Given the description of an element on the screen output the (x, y) to click on. 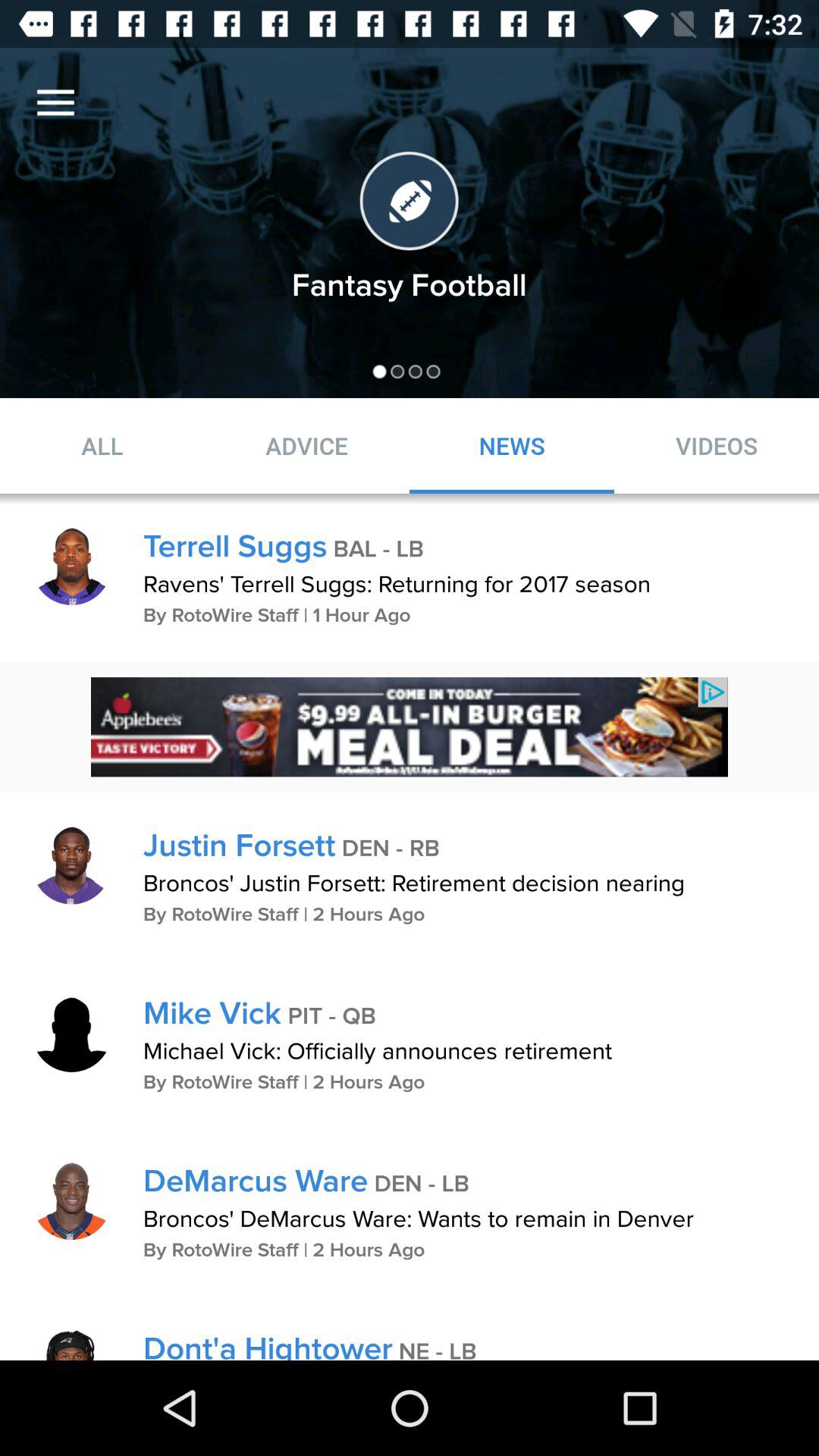
click on the text news (511, 445)
